Given the description of an element on the screen output the (x, y) to click on. 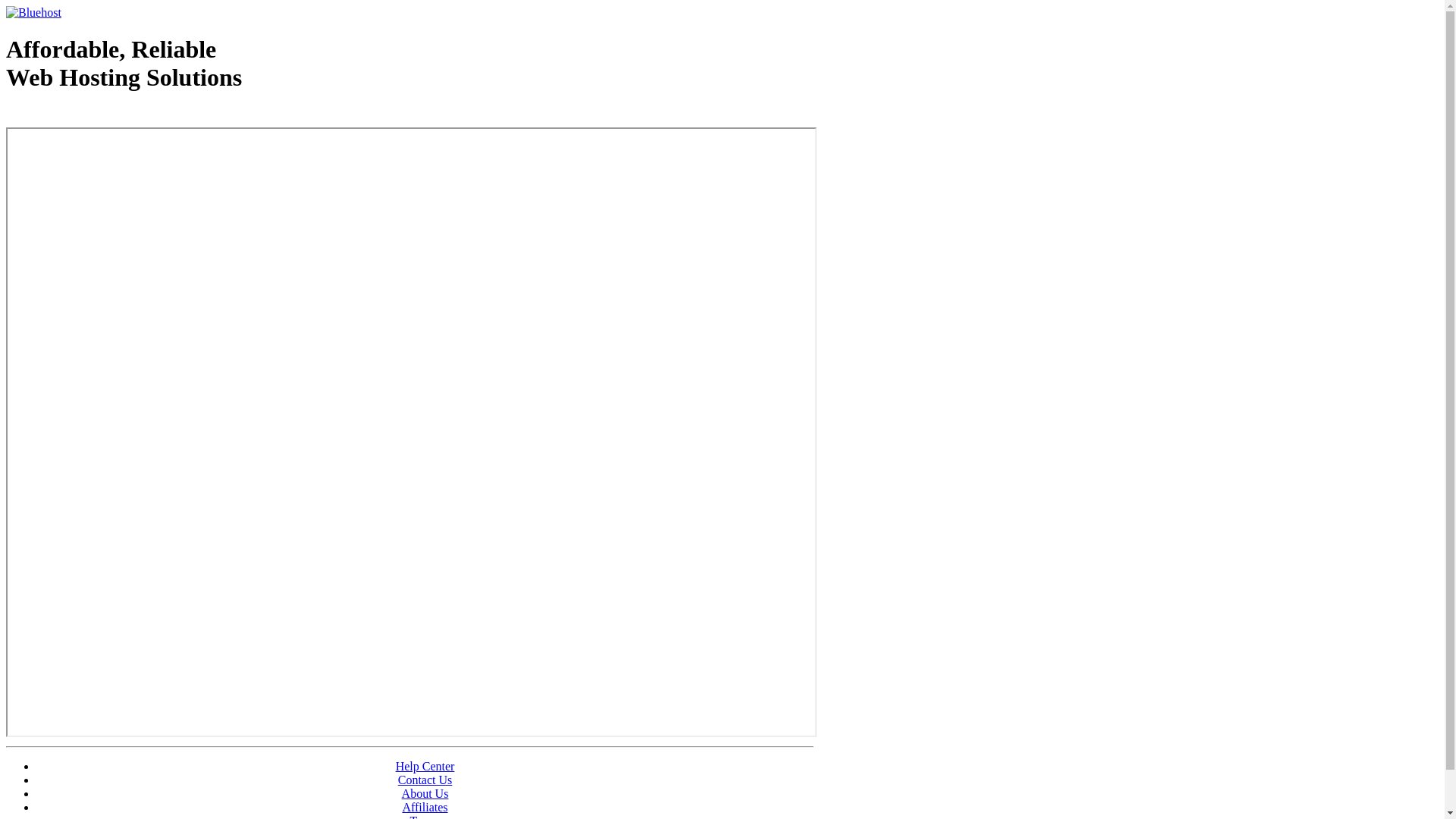
About Us Element type: text (424, 793)
Affiliates Element type: text (424, 806)
Contact Us Element type: text (425, 779)
Help Center Element type: text (425, 765)
Web Hosting - courtesy of www.bluehost.com Element type: text (94, 115)
